Given the description of an element on the screen output the (x, y) to click on. 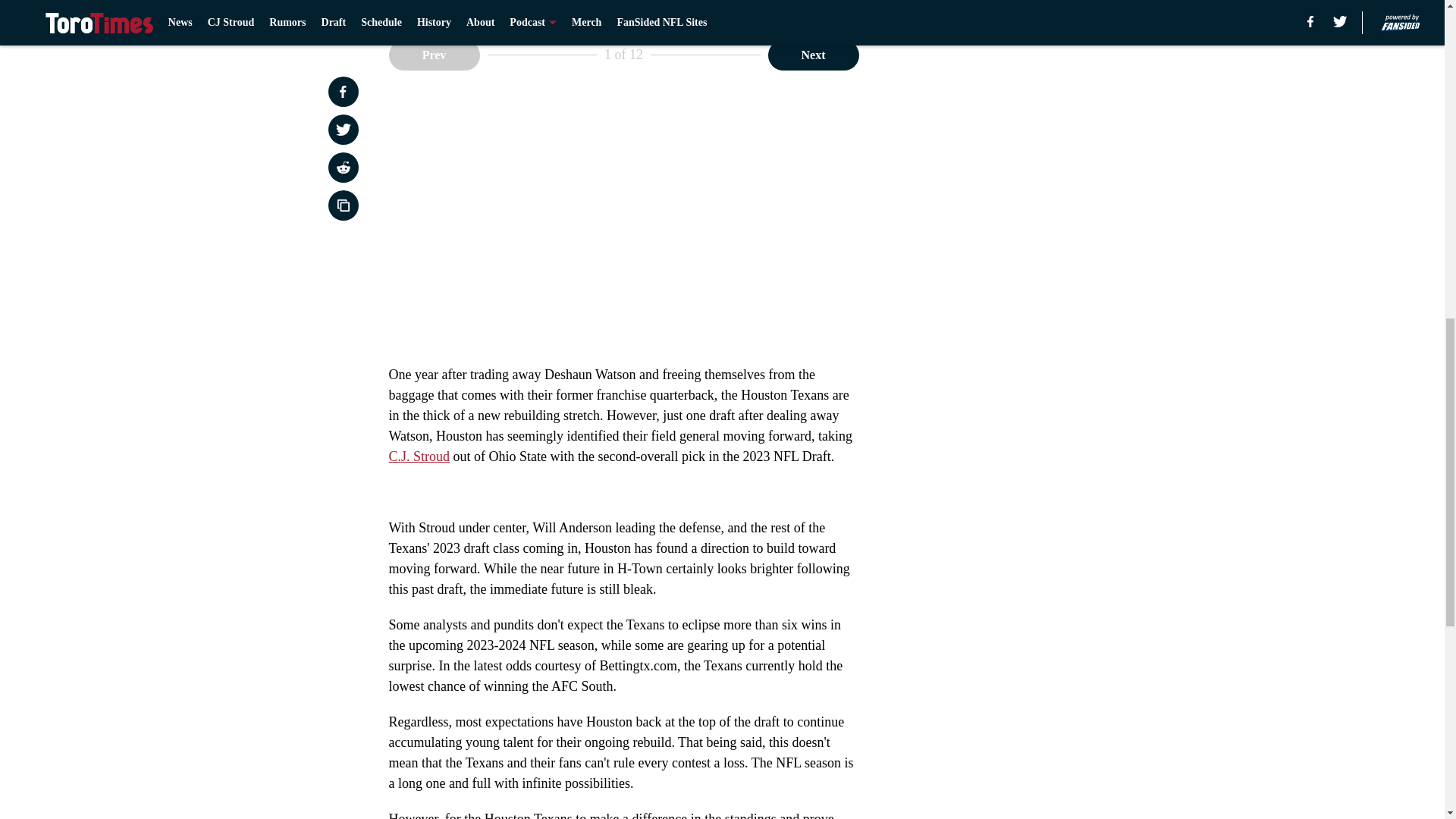
Next (813, 54)
C.J. Stroud (418, 456)
Prev (433, 54)
